Given the description of an element on the screen output the (x, y) to click on. 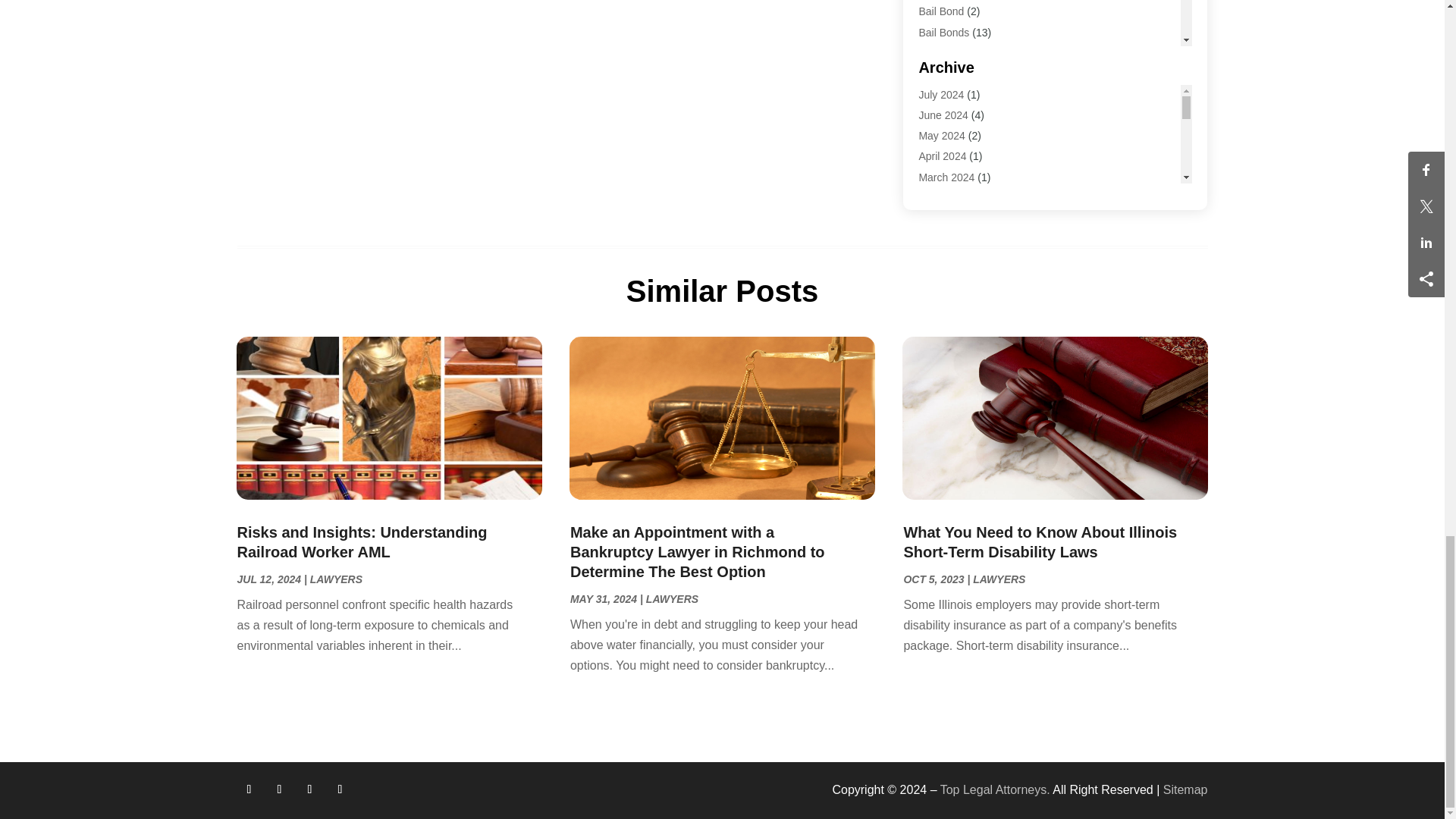
Bail Bonds (943, 32)
Follow on X (278, 789)
Follow on Instagram (309, 789)
Bankruptcy Lawyer (963, 52)
Follow on Facebook (247, 789)
Follow on Youtube (339, 789)
Bail Bond (940, 10)
